Given the description of an element on the screen output the (x, y) to click on. 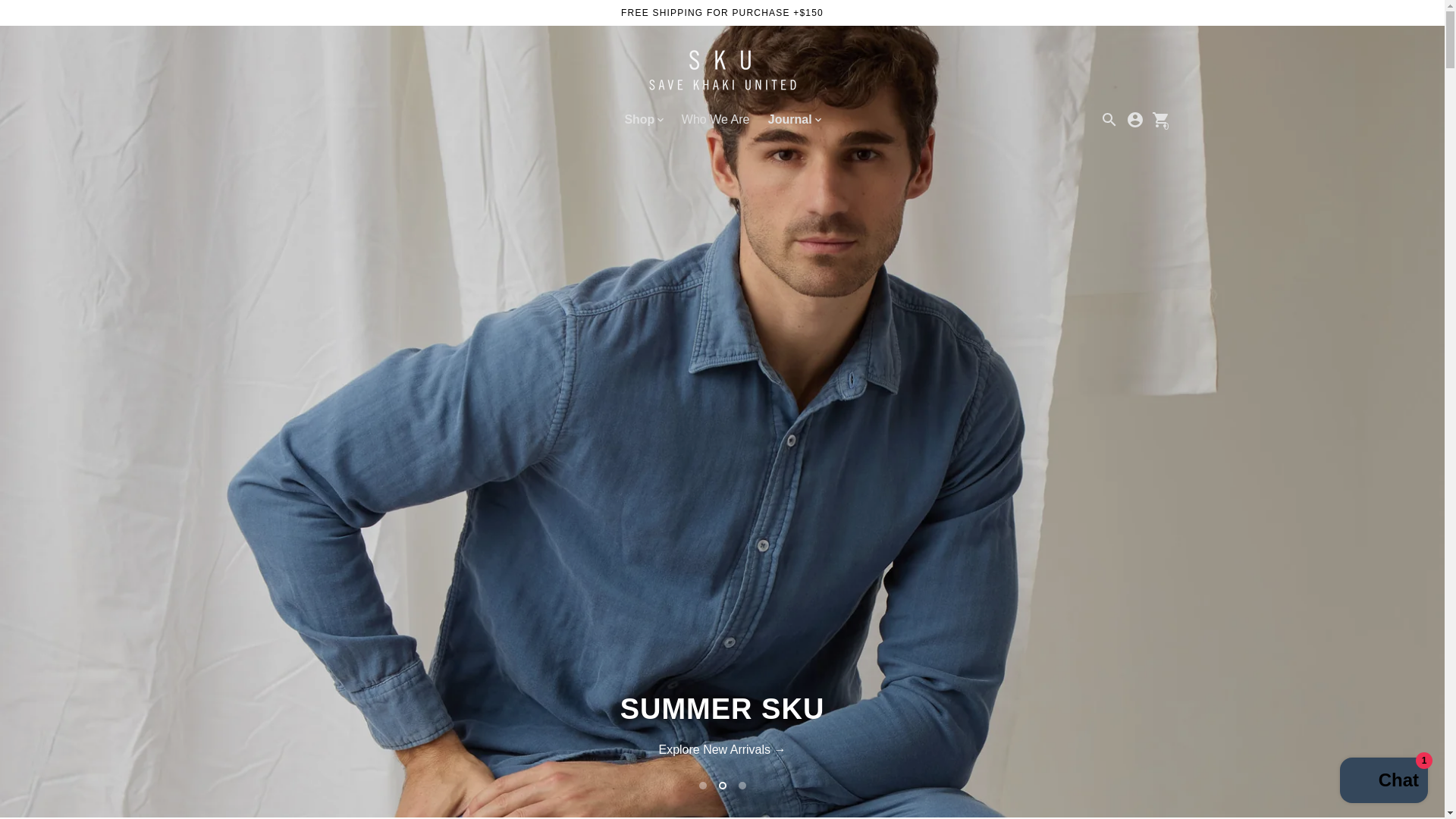
Shopify online store chat (1383, 781)
Shop (643, 119)
